Given the description of an element on the screen output the (x, y) to click on. 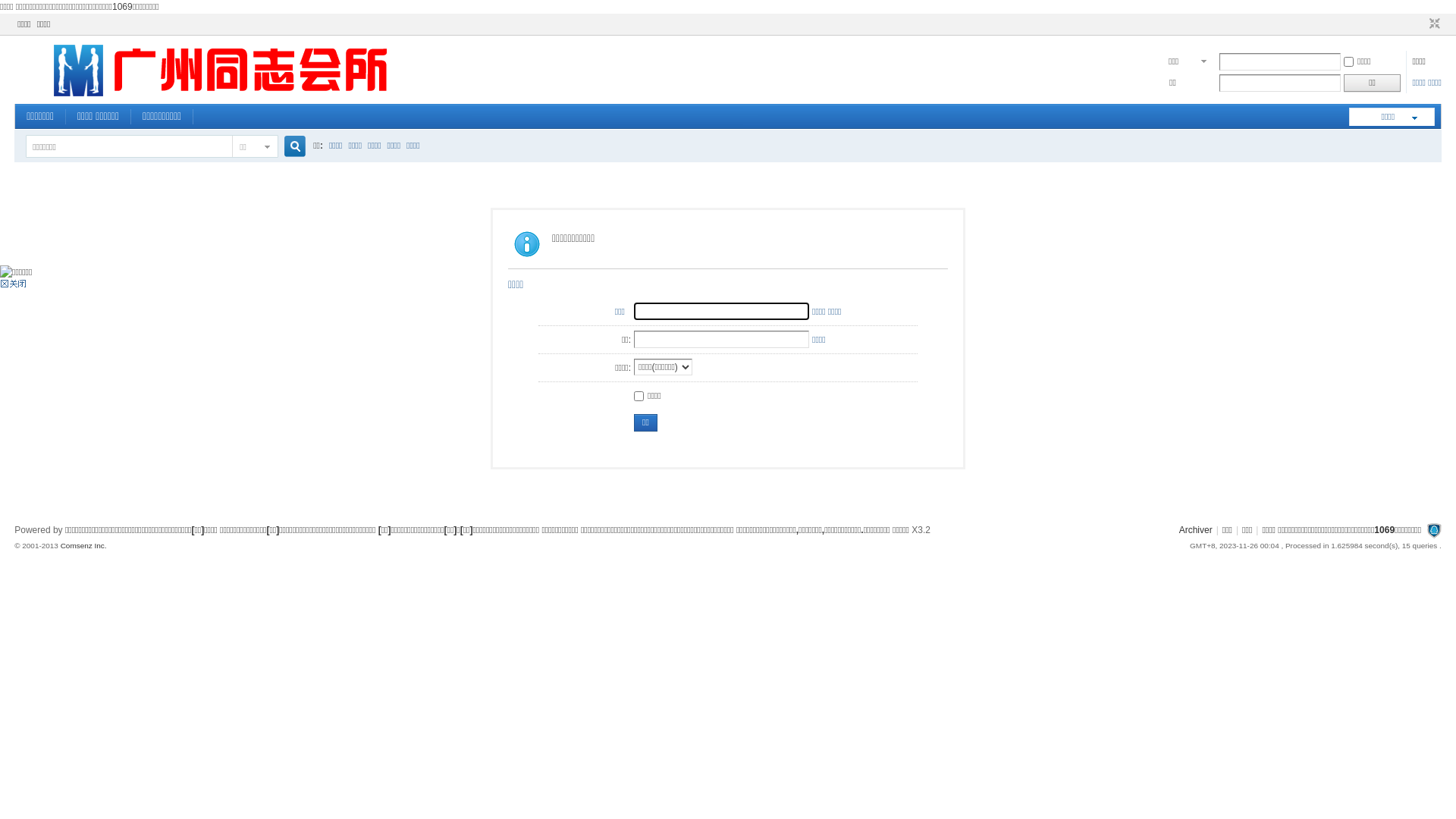
true Element type: text (289, 146)
Archiver Element type: text (1195, 529)
Comsenz Inc. Element type: text (83, 545)
